Given the description of an element on the screen output the (x, y) to click on. 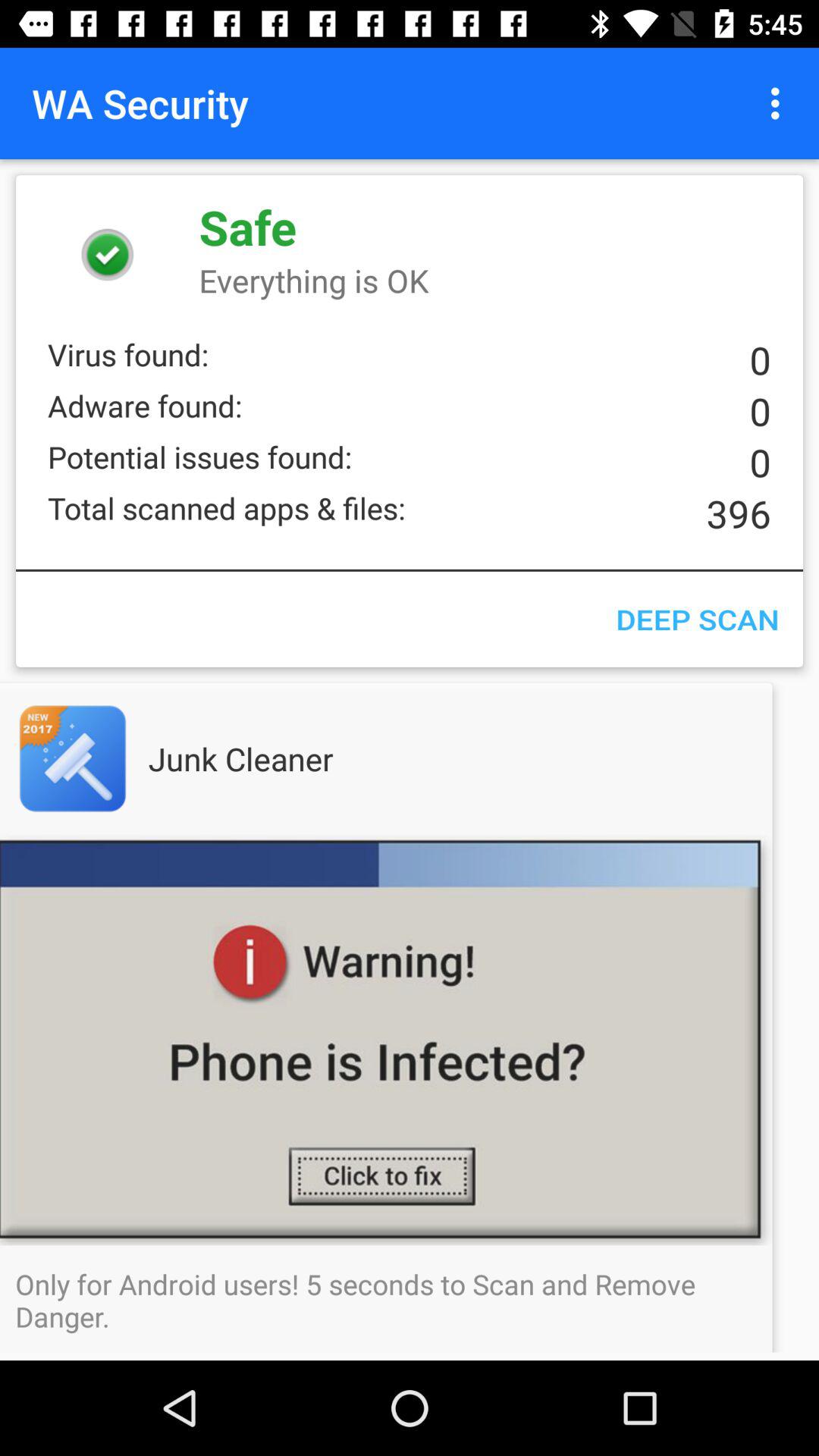
select icon above the only for android (409, 1039)
